Given the description of an element on the screen output the (x, y) to click on. 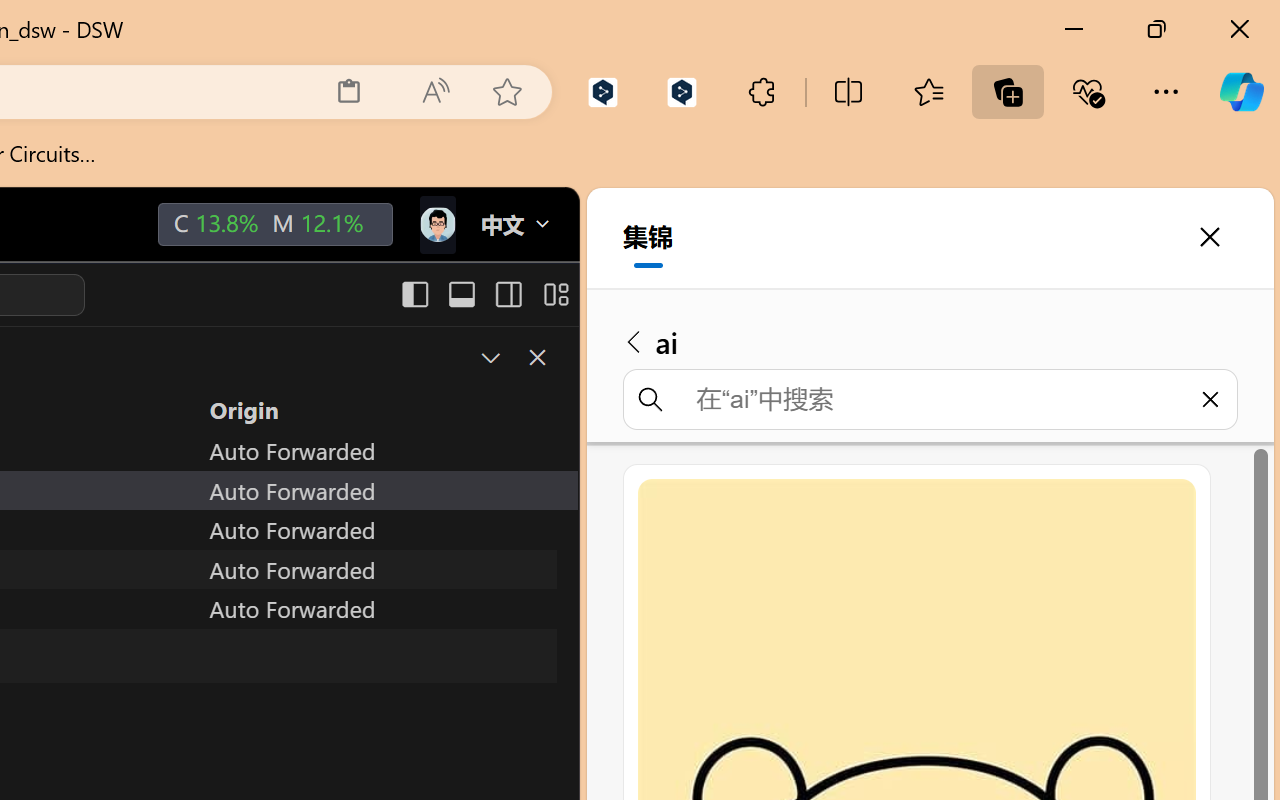
Close Panel (535, 357)
Toggle Secondary Side Bar (Ctrl+Alt+B) (506, 294)
Class: actions-container (516, 358)
Title actions (484, 294)
icon (436, 224)
Copilot (Ctrl+Shift+.) (1241, 91)
